Given the description of an element on the screen output the (x, y) to click on. 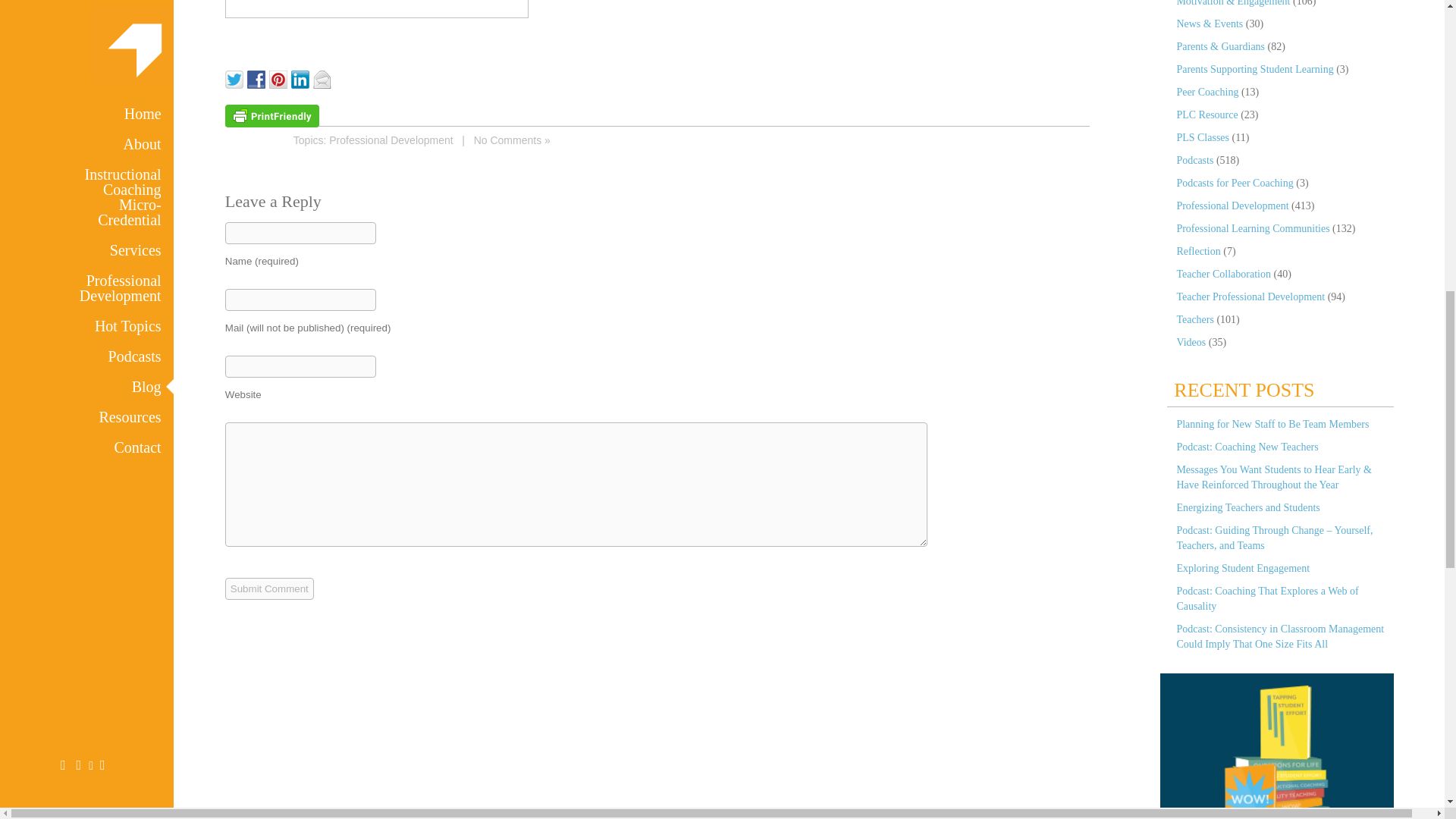
Twitter (236, 77)
Email (323, 77)
Linkedin (302, 77)
Facebook (258, 77)
Submit Comment (269, 588)
Pinterest (280, 77)
